Given the description of an element on the screen output the (x, y) to click on. 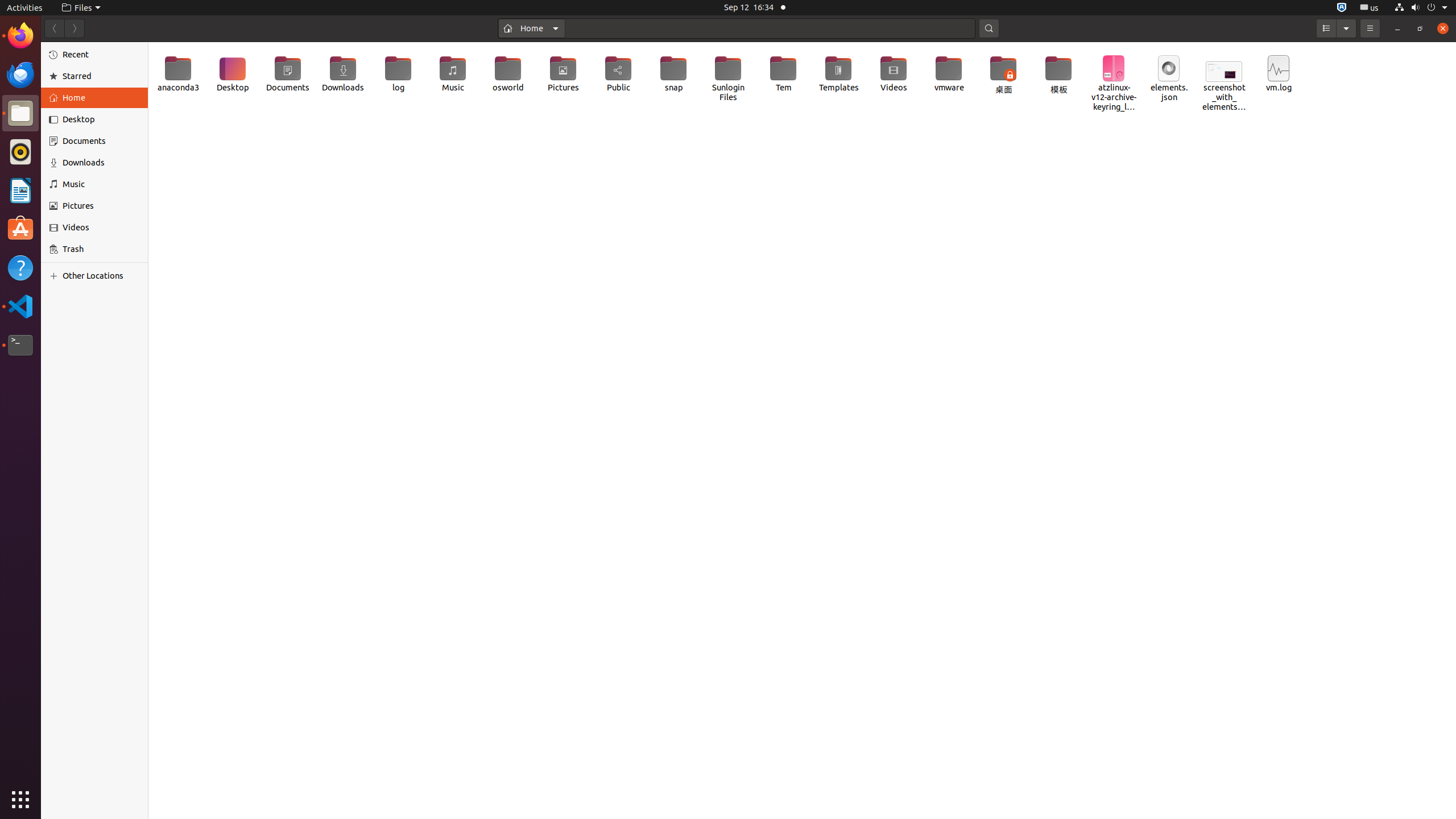
screenshot_with_elements.png Element type: canvas (1223, 79)
